Given the description of an element on the screen output the (x, y) to click on. 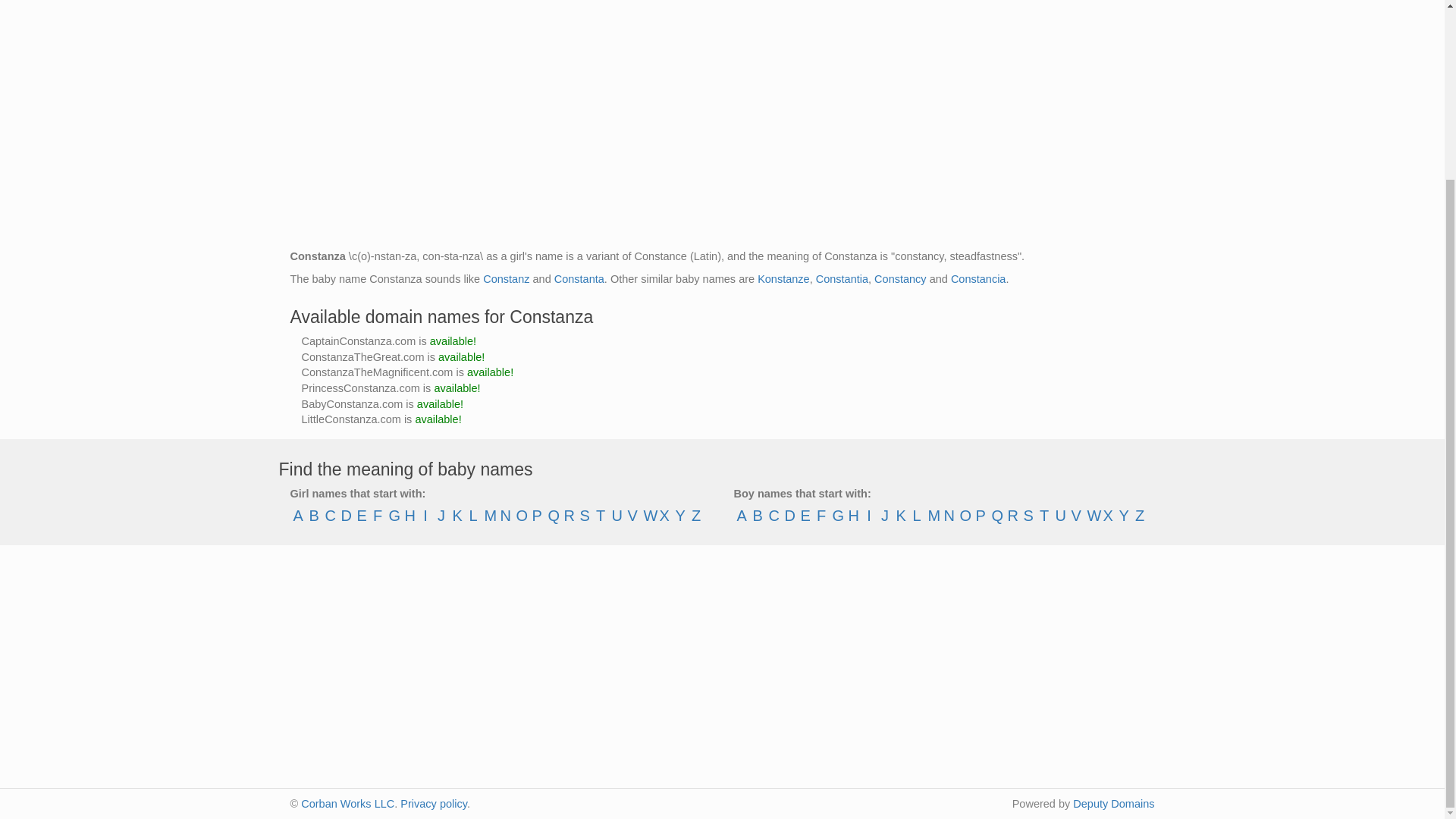
available! (456, 387)
Constancy (900, 278)
Constantia (841, 278)
Deputy Domains (1113, 803)
Konstanze (783, 278)
Constanz (506, 278)
available! (452, 340)
available! (437, 419)
available! (439, 404)
available! (461, 357)
available! (490, 372)
Constanta (579, 278)
Corban Works LLC (347, 803)
